Given the description of an element on the screen output the (x, y) to click on. 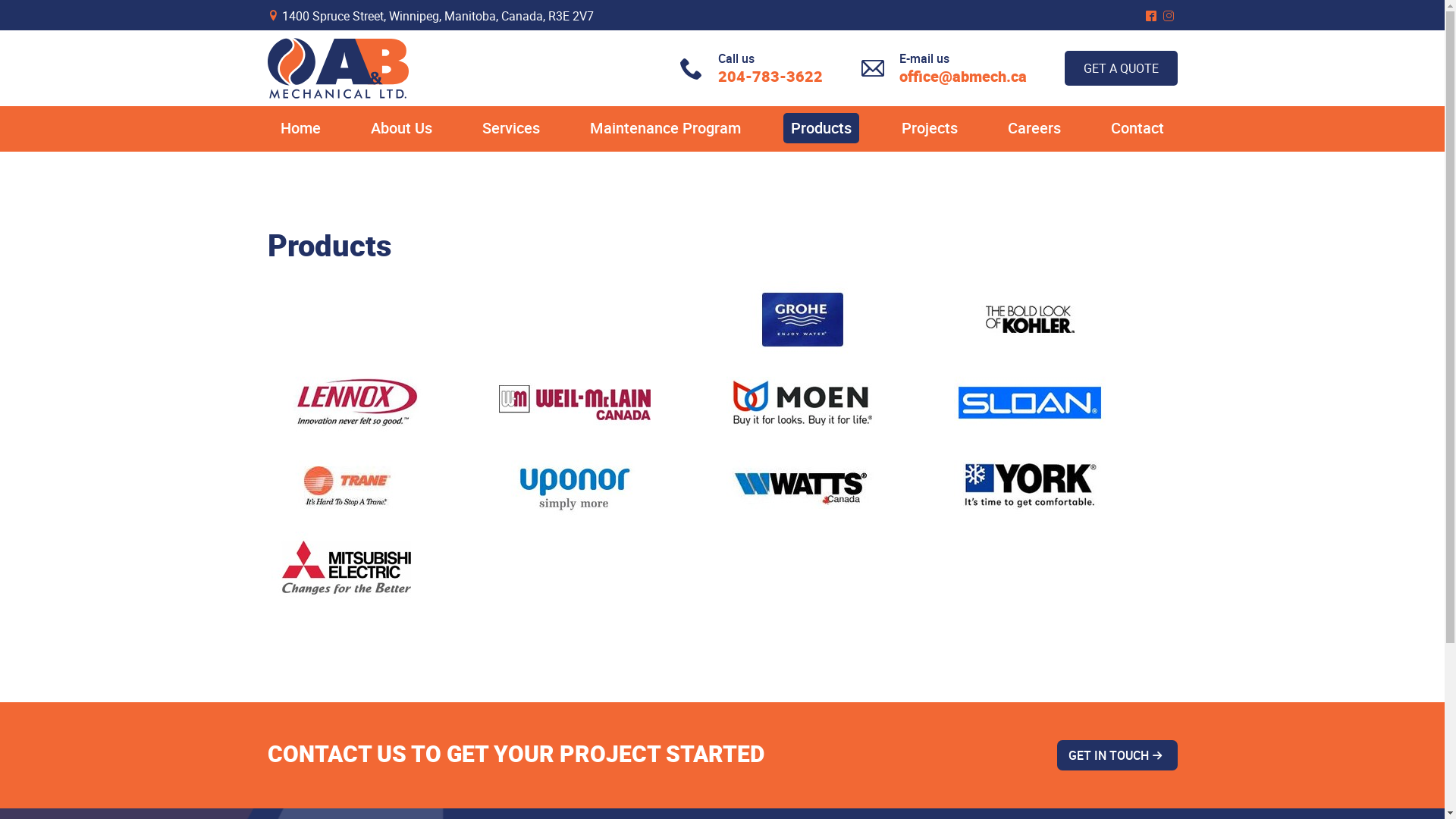
Projects Element type: text (929, 127)
Contact Element type: text (1137, 127)
Services Element type: text (510, 127)
Maintenance Program Element type: text (665, 127)
A&B Mechanical Ltd. Element type: text (336, 67)
office@abmech.ca Element type: text (962, 75)
About Us Element type: text (401, 127)
GET IN TOUCH 6 Element type: text (1117, 755)
Products Element type: text (821, 127)
& Element type: text (1170, 15)
^ Element type: text (1152, 15)
GET A QUOTE Element type: text (1120, 67)
Careers Element type: text (1034, 127)
Home Element type: text (300, 127)
